Given the description of an element on the screen output the (x, y) to click on. 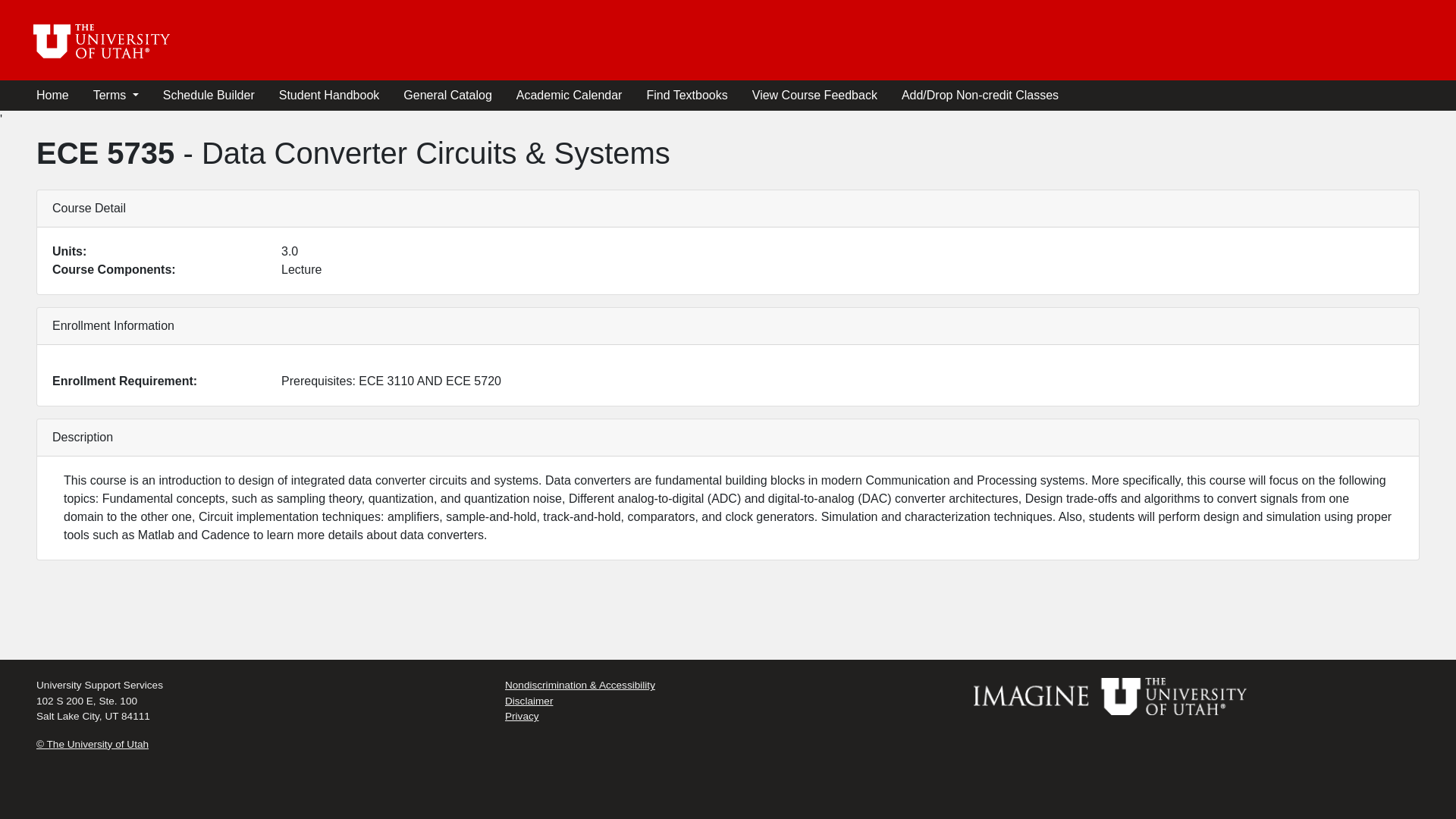
Privacy (521, 715)
Academic Calendar (569, 95)
Find Textbooks (686, 95)
Disclaimer (529, 700)
Terms (115, 95)
View Course Feedback (814, 95)
Schedule Builder (208, 95)
General Catalog (447, 95)
Student Handbook (329, 95)
